Given the description of an element on the screen output the (x, y) to click on. 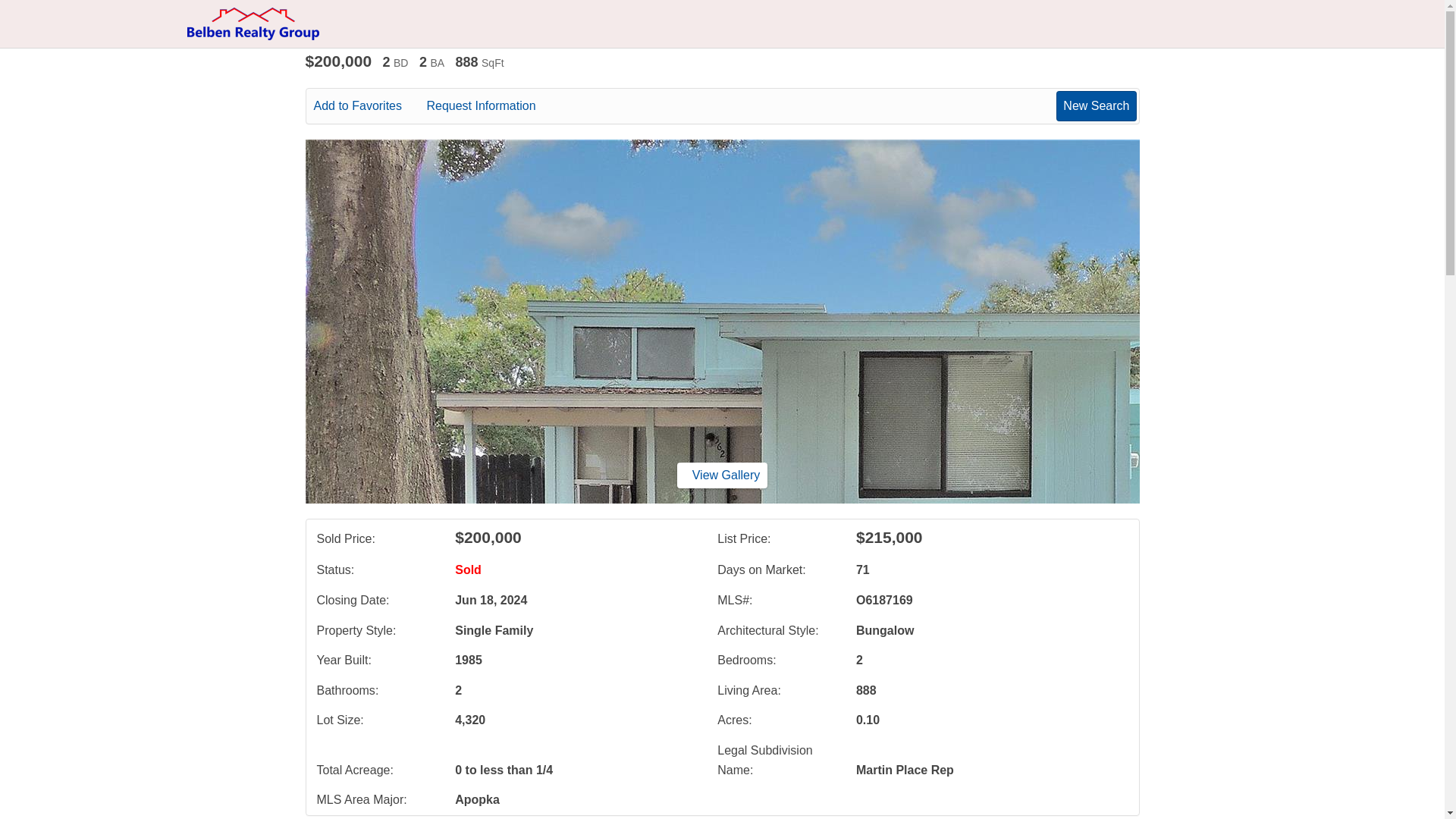
New Search (1096, 105)
Request Information (491, 106)
Add to Favorites (368, 106)
View Gallery (722, 474)
View Gallery (722, 475)
